Given the description of an element on the screen output the (x, y) to click on. 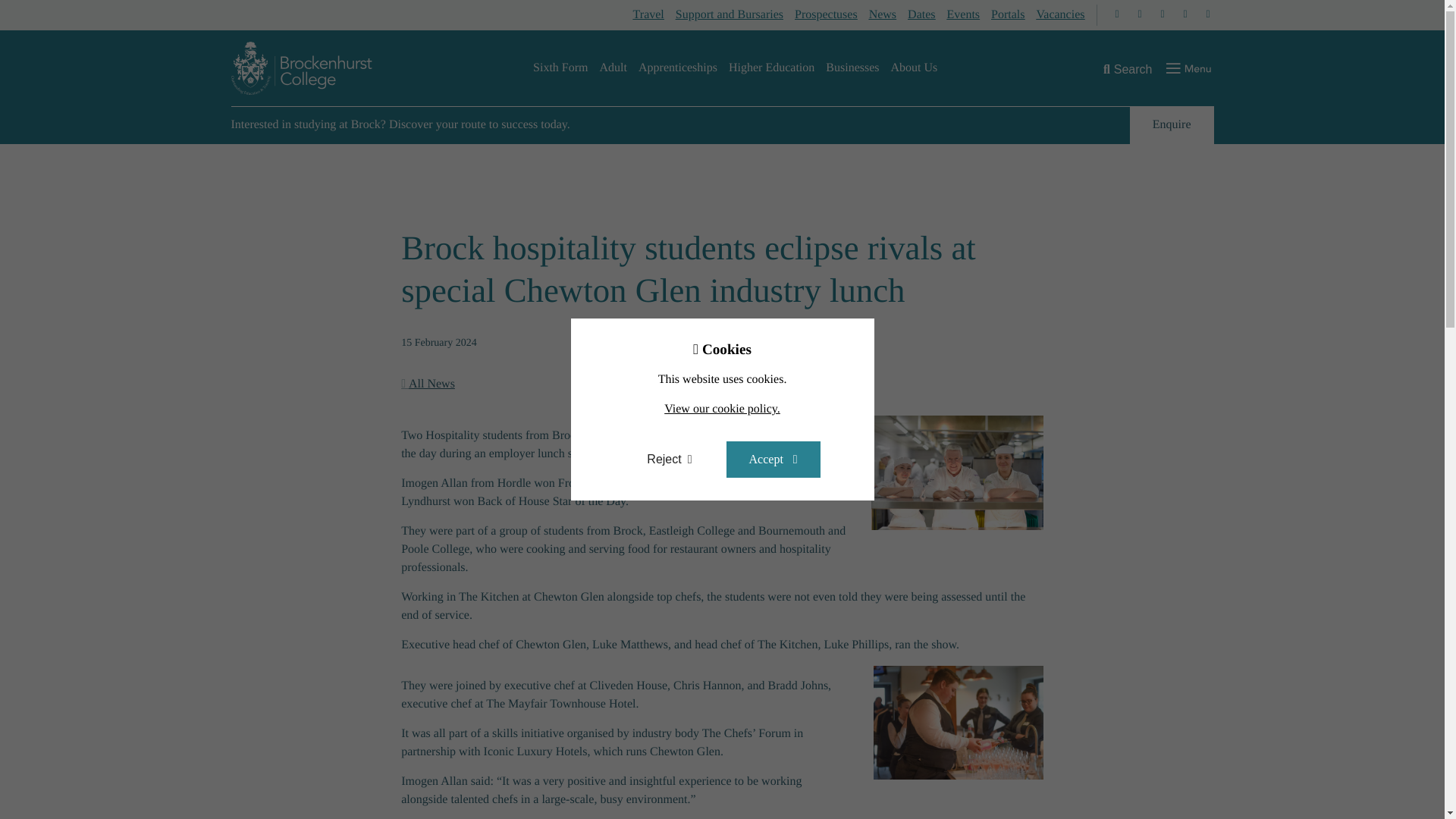
Vacancies (1066, 15)
Support and Bursaries (734, 15)
Dates (926, 15)
Prospectuses (831, 15)
Events (969, 15)
Reject (669, 459)
Vacancies (1066, 15)
Portals (1013, 15)
Support and Bursaries (734, 15)
News (888, 15)
Dates (926, 15)
View our cookie policy. (721, 408)
Events (969, 15)
Accept (773, 459)
Travel (654, 15)
